Given the description of an element on the screen output the (x, y) to click on. 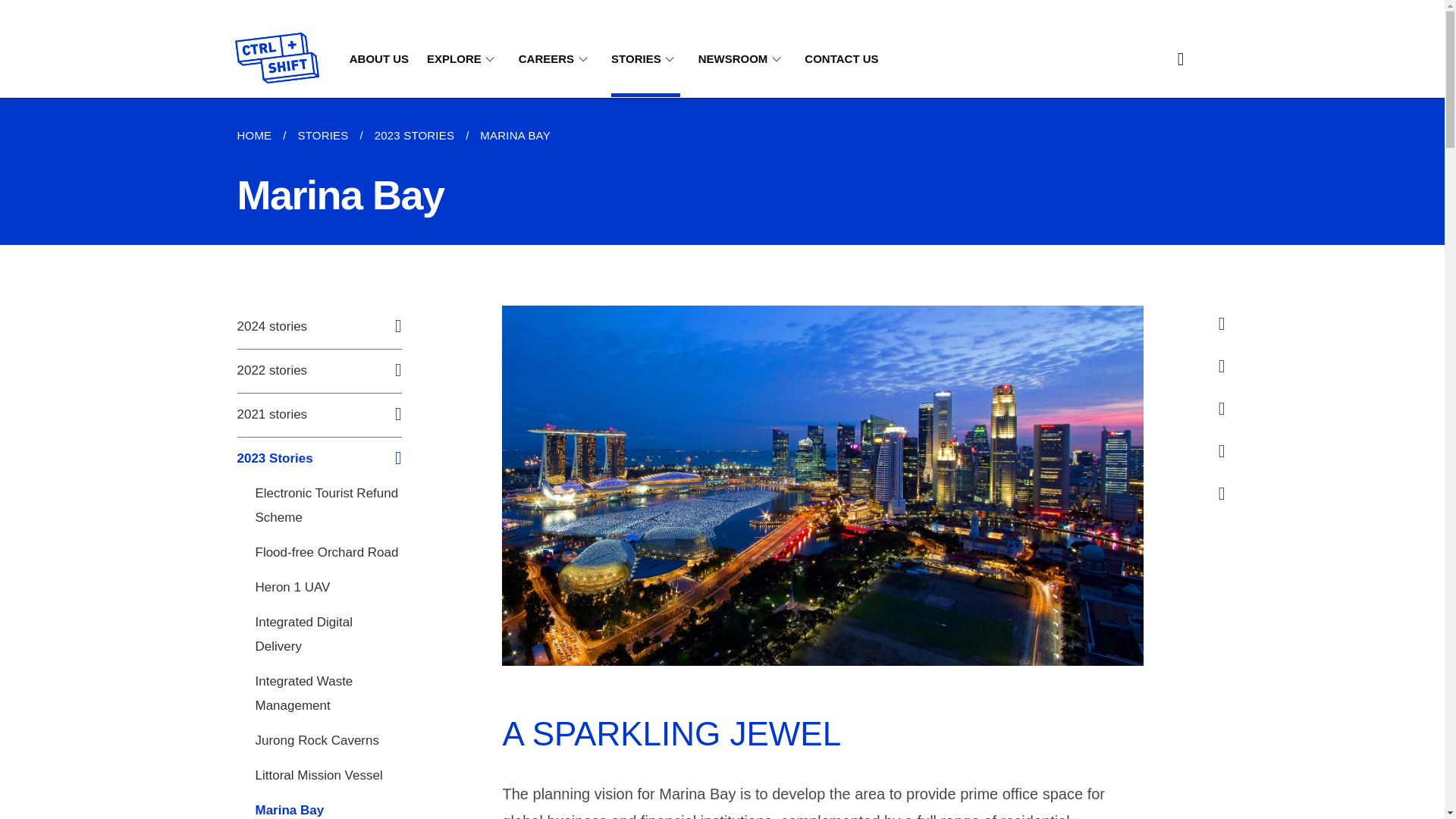
NEWSROOM (742, 59)
HOME (258, 135)
CAREERS (555, 59)
ABOUT US (379, 59)
2023 STORIES (413, 135)
STORIES (322, 135)
STORIES (645, 59)
EXPLORE (463, 59)
CONTACT US (841, 59)
MARINA BAY (515, 135)
